Given the description of an element on the screen output the (x, y) to click on. 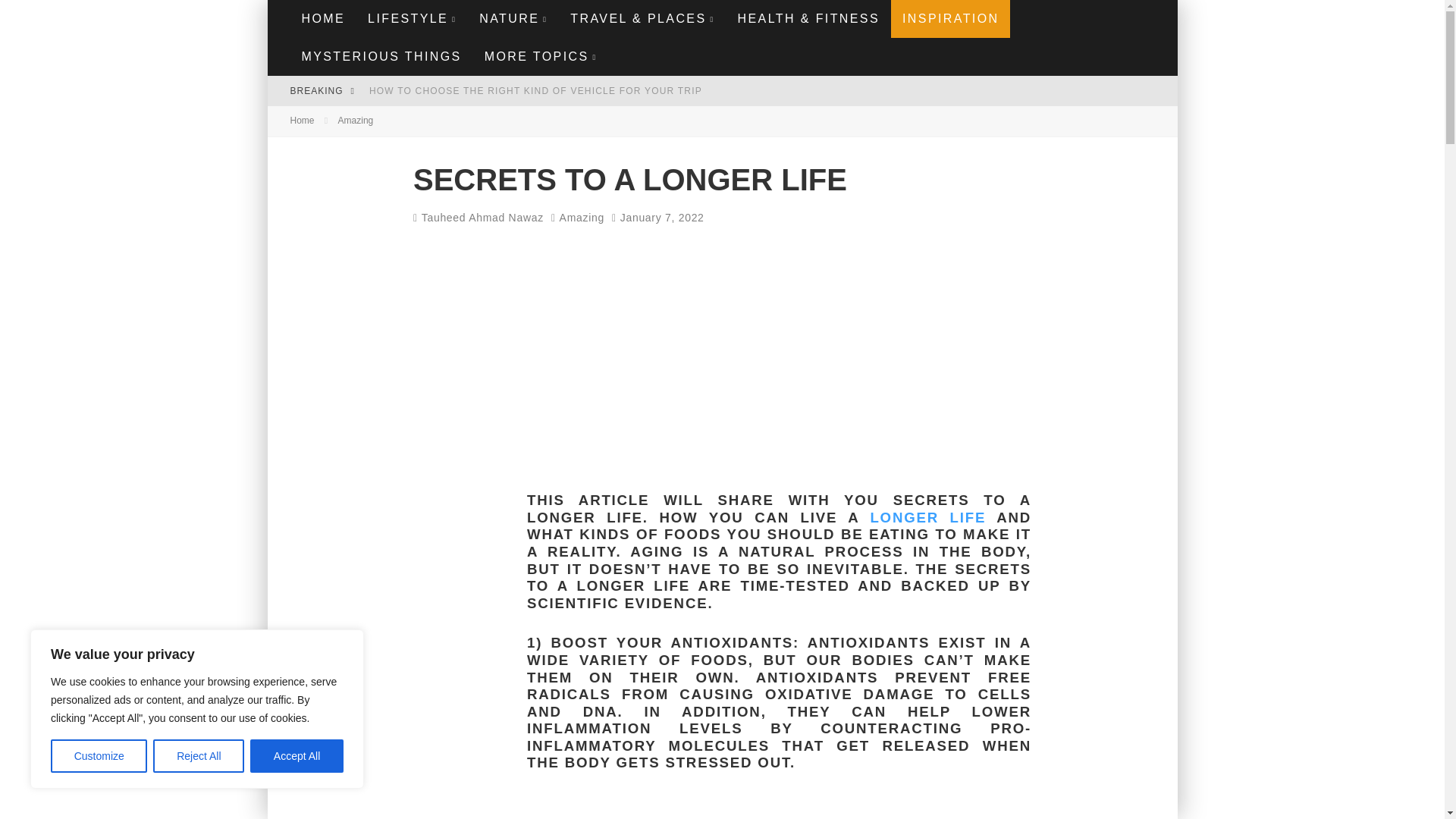
Reject All (198, 756)
How To Choose The Right Kind Of Vehicle For Your Trip (535, 90)
Accept All (296, 756)
Advertisement (778, 363)
HOME (322, 18)
Customize (98, 756)
NATURE (513, 18)
LIFESTYLE (411, 18)
Advertisement (778, 806)
